Given the description of an element on the screen output the (x, y) to click on. 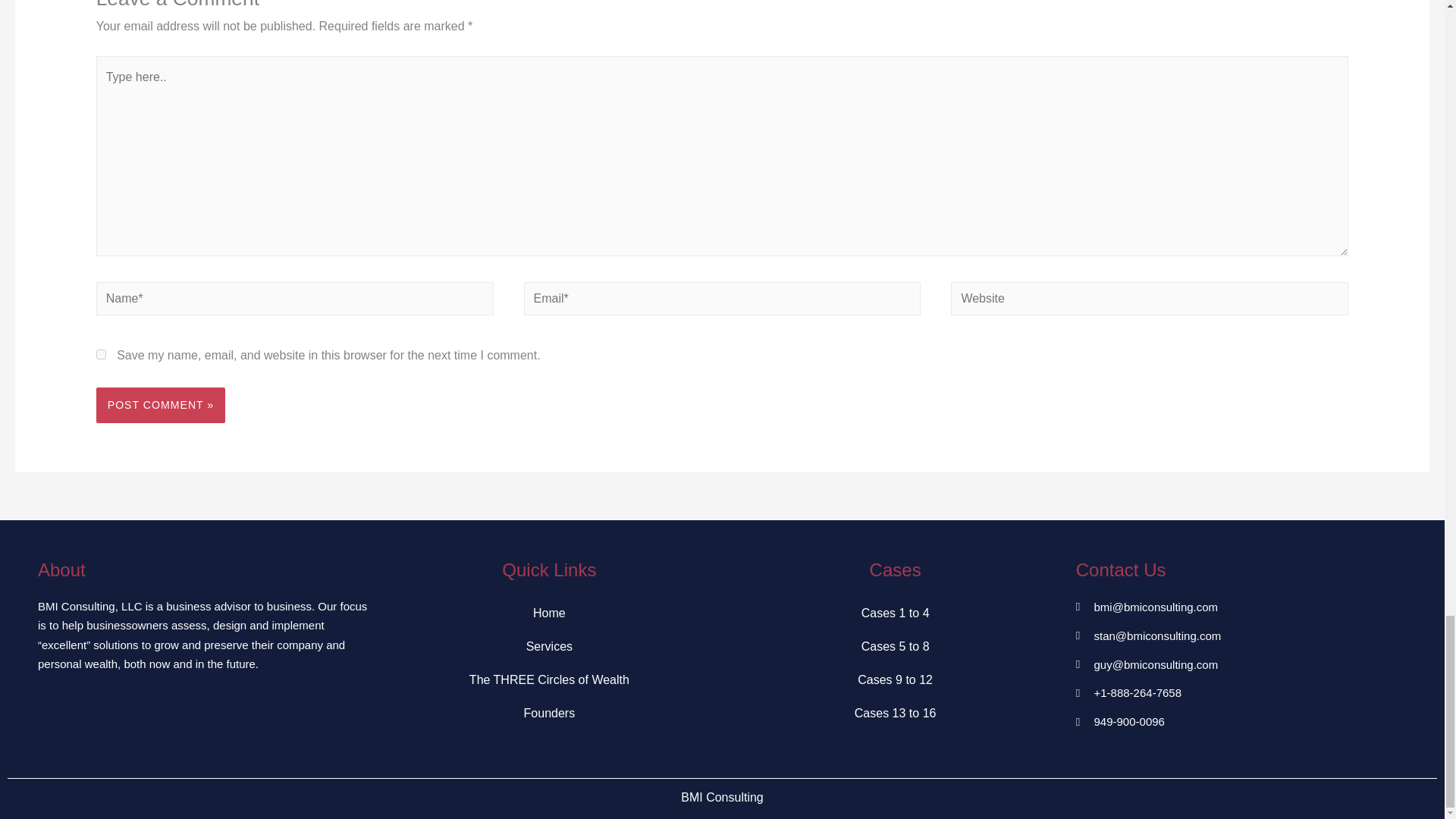
yes (101, 354)
